Given the description of an element on the screen output the (x, y) to click on. 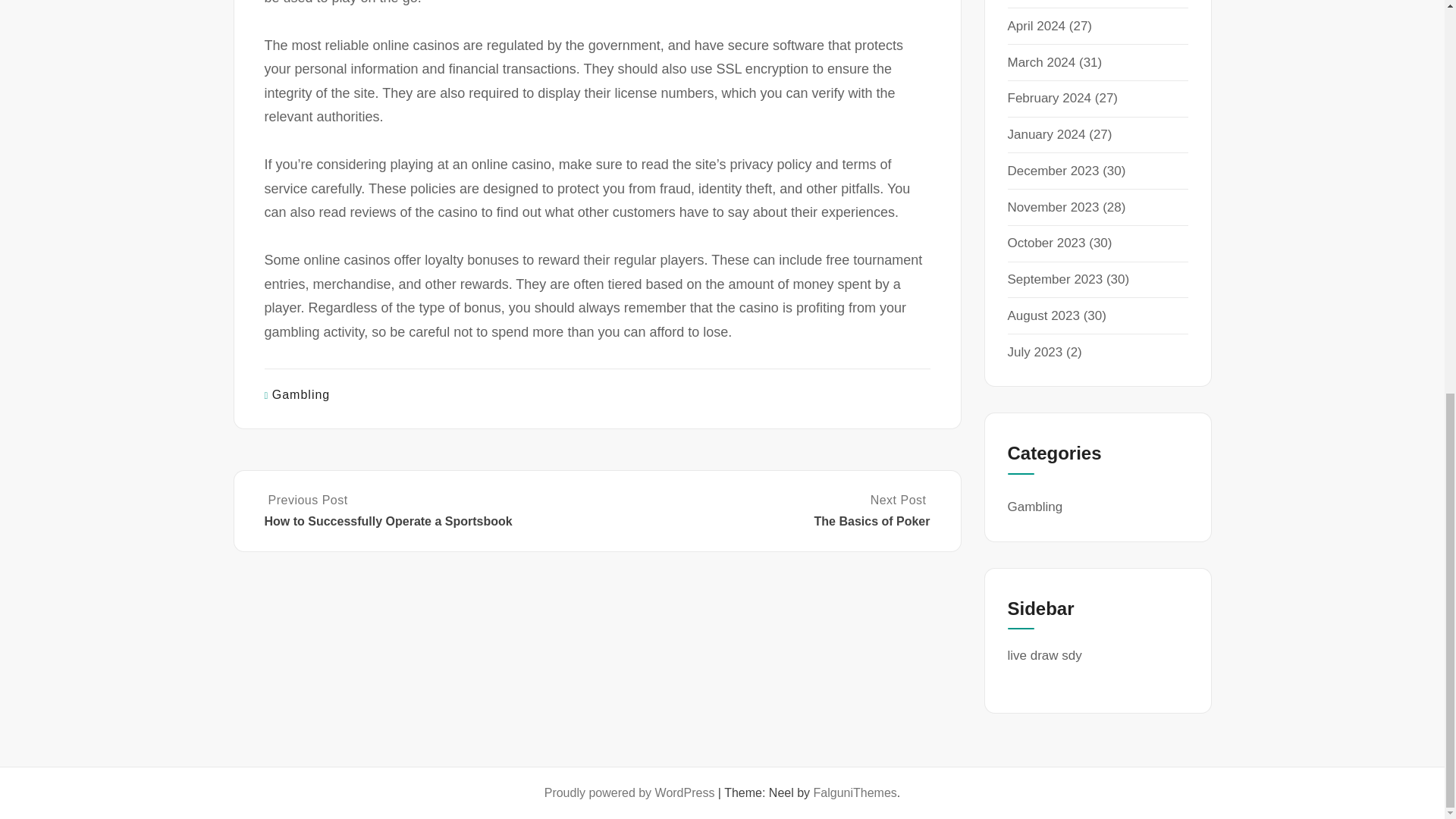
March 2024 (1041, 62)
July 2023 (1034, 351)
September 2023 (764, 510)
February 2024 (1054, 278)
Gambling (1048, 97)
January 2024 (301, 394)
Gambling (1045, 134)
live draw sdy (1034, 506)
